Given the description of an element on the screen output the (x, y) to click on. 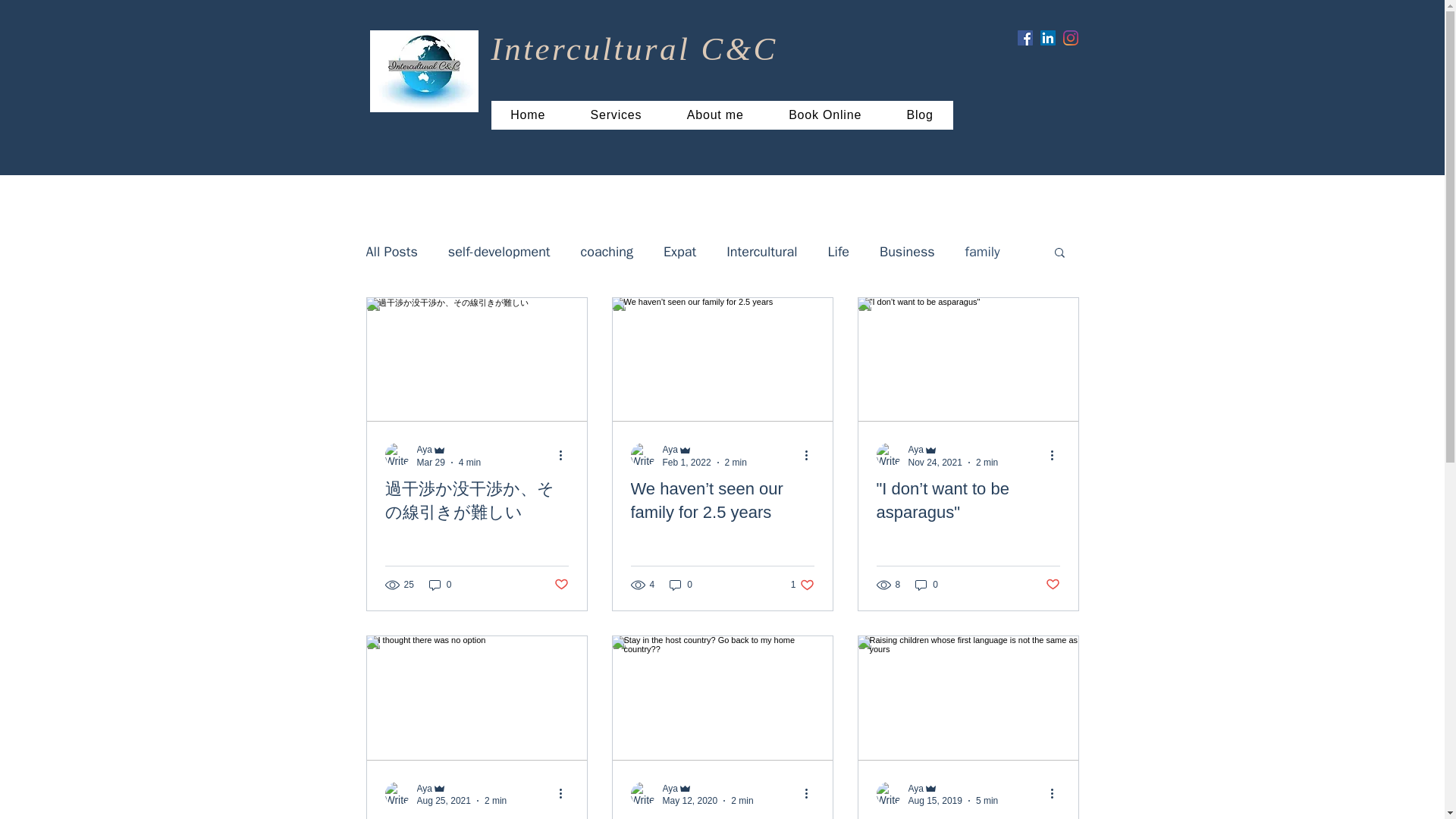
2 min (986, 462)
Nov 24, 2021 (935, 462)
Aya (915, 787)
About me (714, 114)
Aya (448, 450)
Feb 1, 2022 (686, 462)
Aug 15, 2019 (935, 800)
Intercultural (761, 251)
Aya (704, 450)
2 min (495, 800)
